Given the description of an element on the screen output the (x, y) to click on. 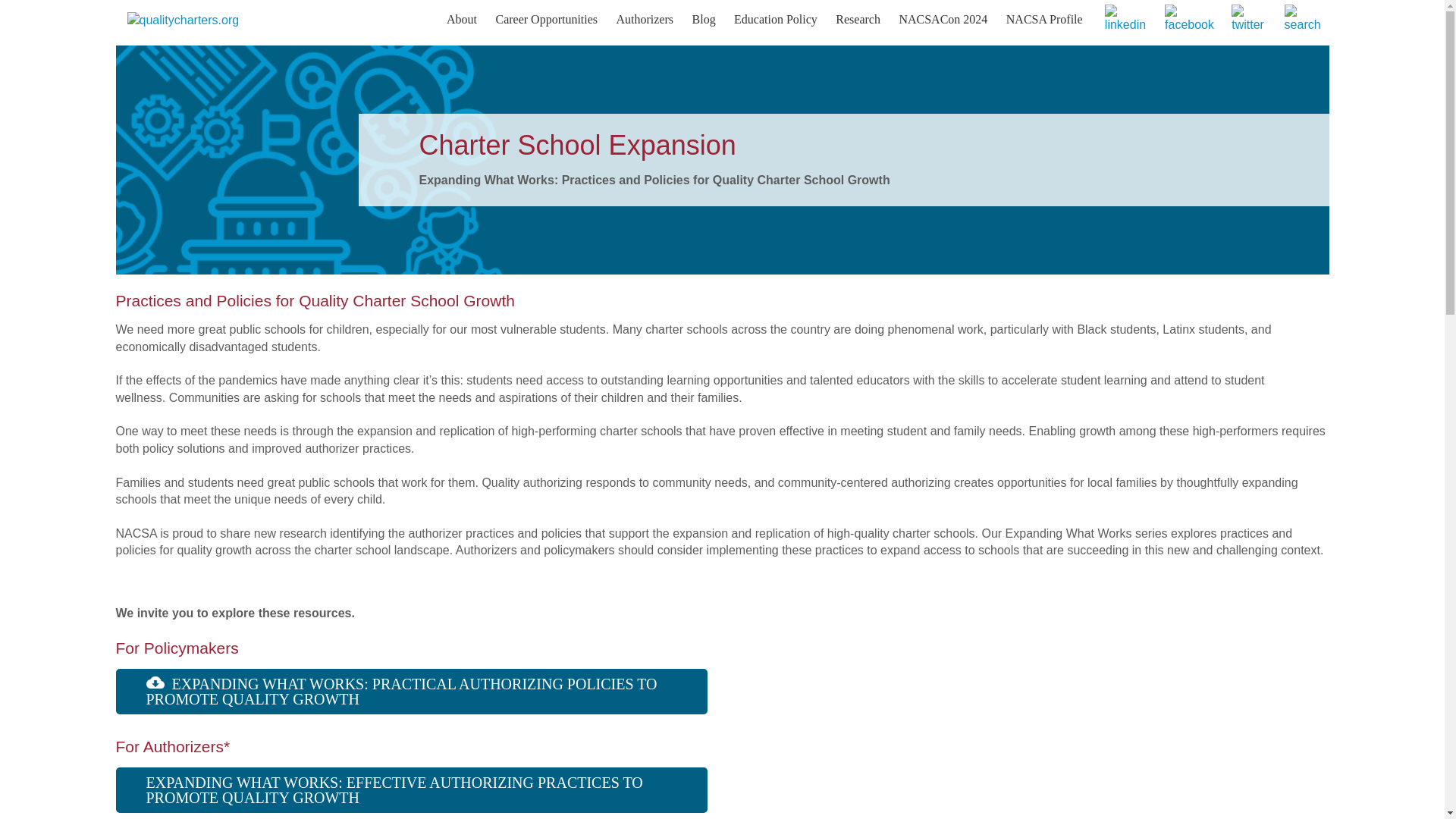
Education Policy (775, 19)
Authorizers (644, 19)
NACSA Profile (1044, 19)
About (461, 19)
Research (858, 19)
Career Opportunities (546, 19)
NACSACon 2024 (942, 19)
Blog (703, 19)
